Given the description of an element on the screen output the (x, y) to click on. 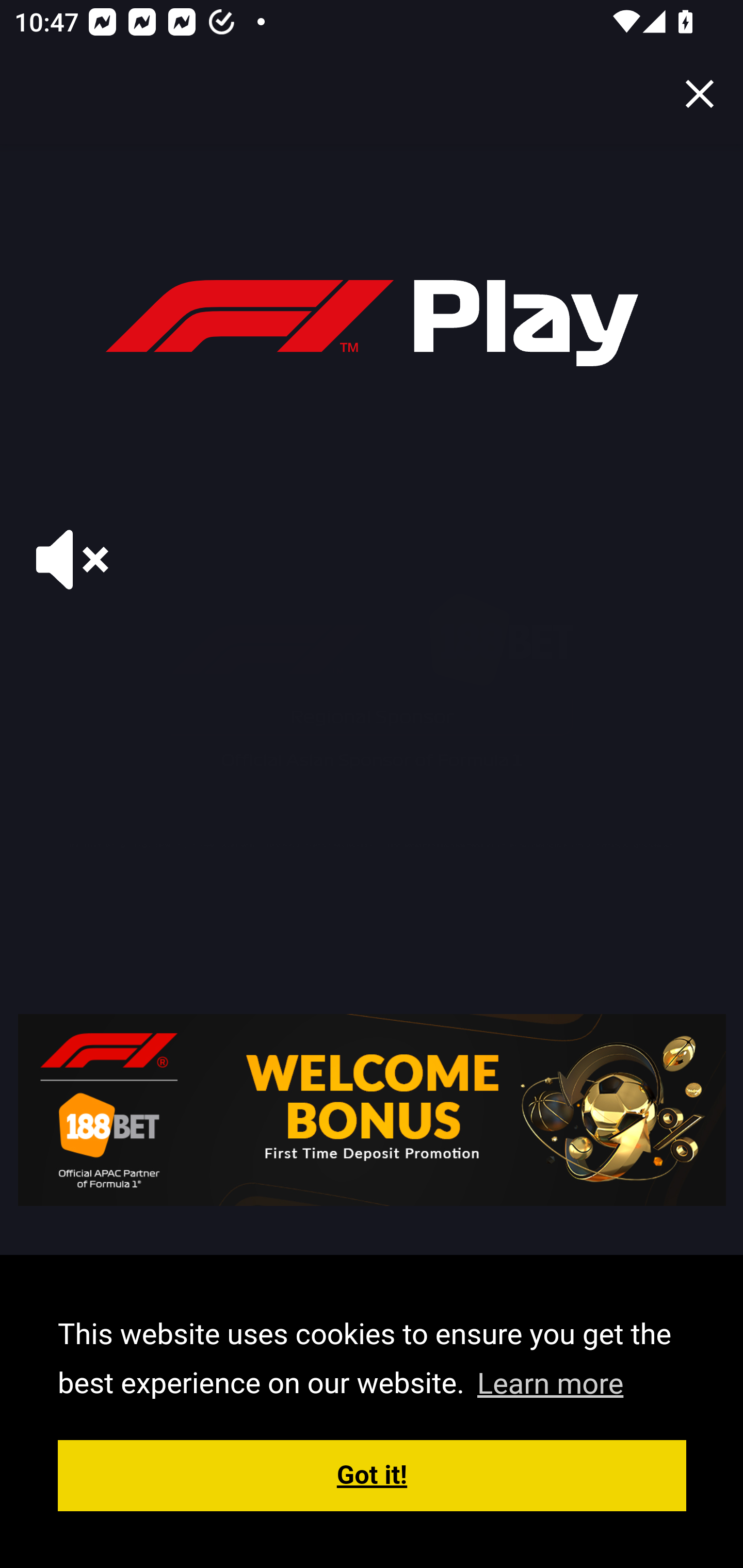
Close (699, 93)
f1-play-logo (371, 324)
# sound-off sound-on (72, 559)
en-gb_1070x290-FTD-1 (372, 1108)
learn more about cookies (549, 1382)
dismiss cookie message (372, 1475)
